Given the description of an element on the screen output the (x, y) to click on. 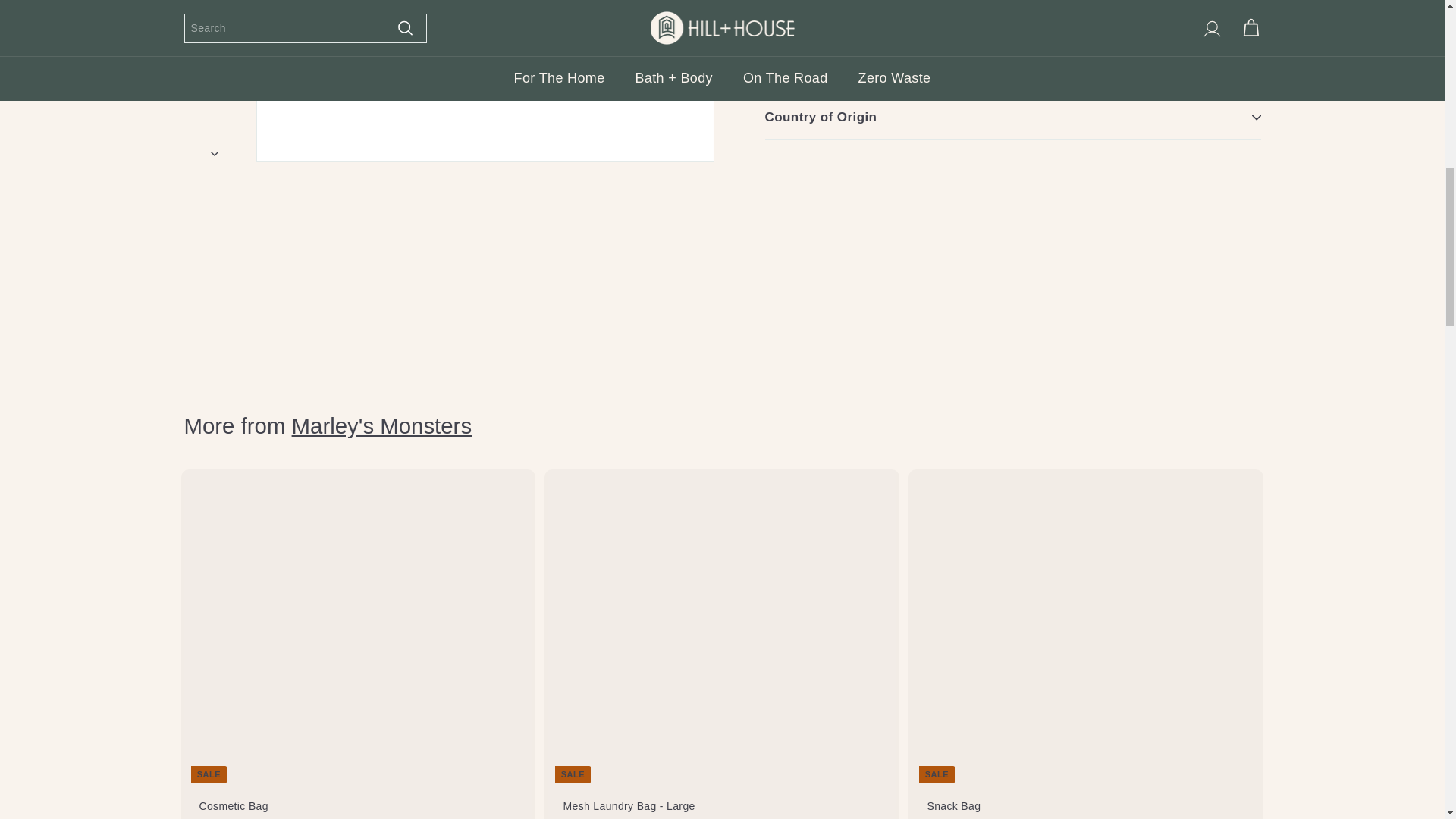
Marley's Monsters (381, 425)
